Given the description of an element on the screen output the (x, y) to click on. 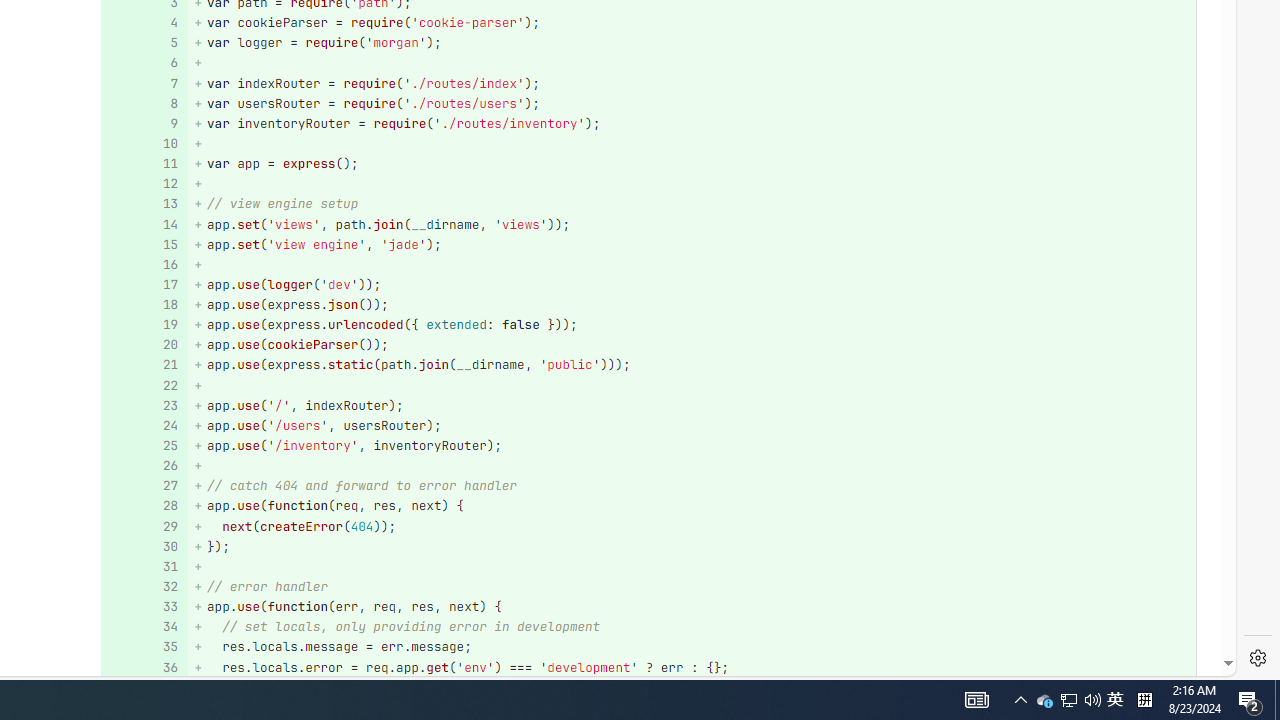
Add a comment to this line 28 (144, 506)
Class: s12 (137, 666)
7 (141, 83)
Add a comment to this line 33 (144, 606)
36 (141, 667)
Add a comment to this line 4 (144, 22)
19 (141, 325)
28 (141, 506)
+ // catch 404 and forward to error handler  (691, 485)
13 (141, 204)
31 (141, 566)
Add a comment to this line 11 (144, 164)
14 (141, 223)
34 (141, 627)
